Given the description of an element on the screen output the (x, y) to click on. 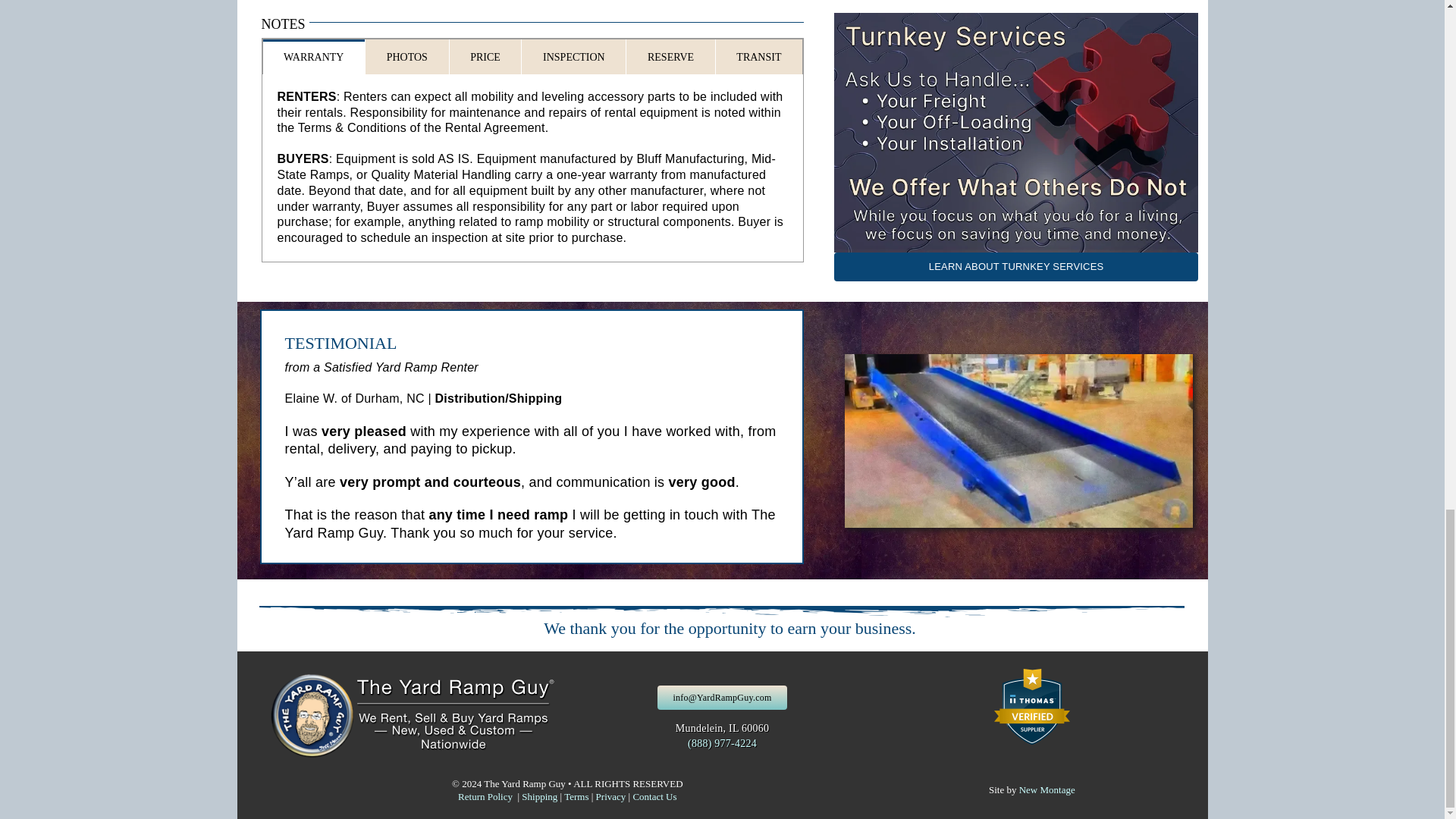
We thank you for the opportunity to earn your business. (721, 615)
